Given the description of an element on the screen output the (x, y) to click on. 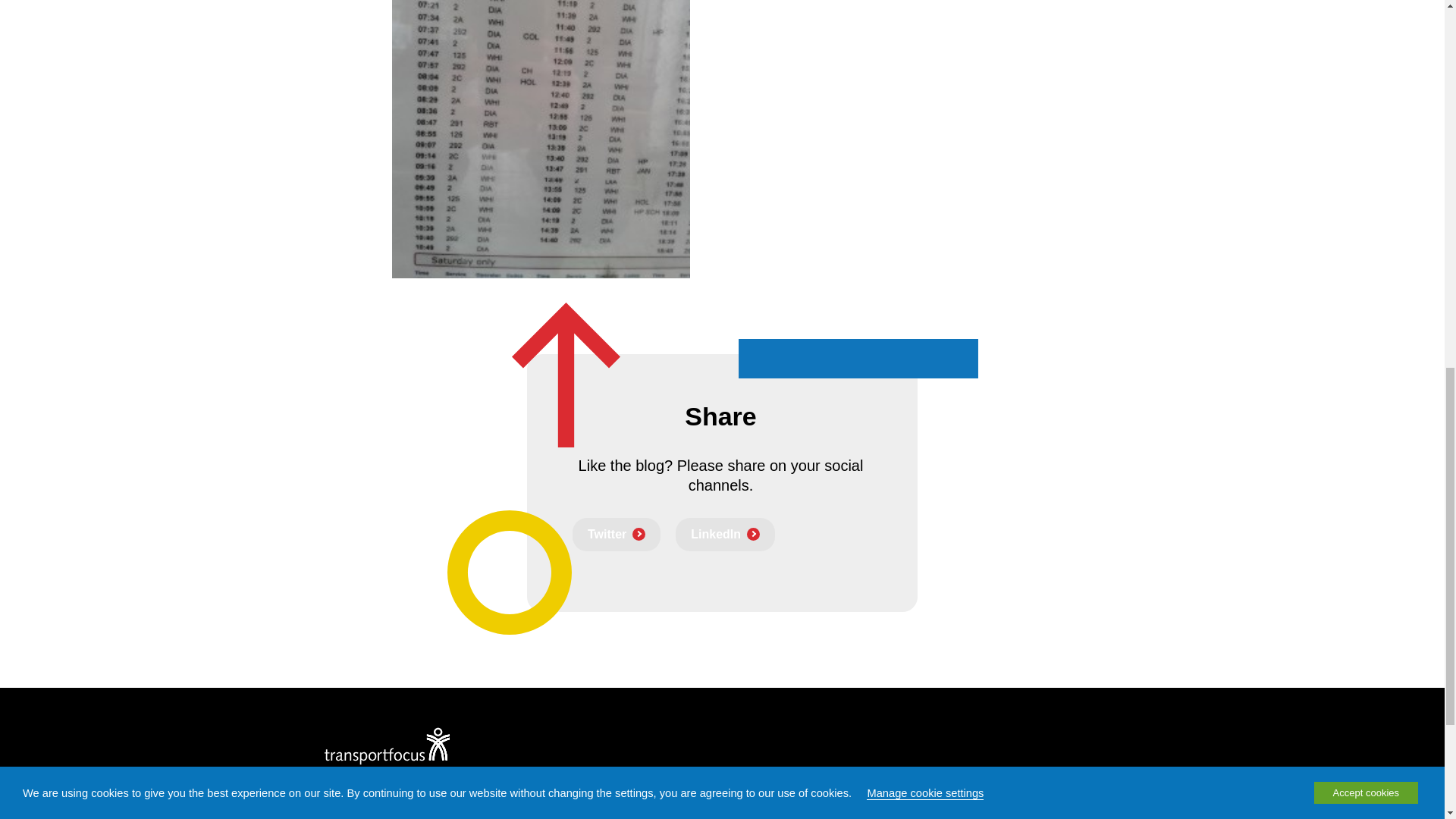
Twitter (616, 534)
LinkedIn (724, 534)
